Given the description of an element on the screen output the (x, y) to click on. 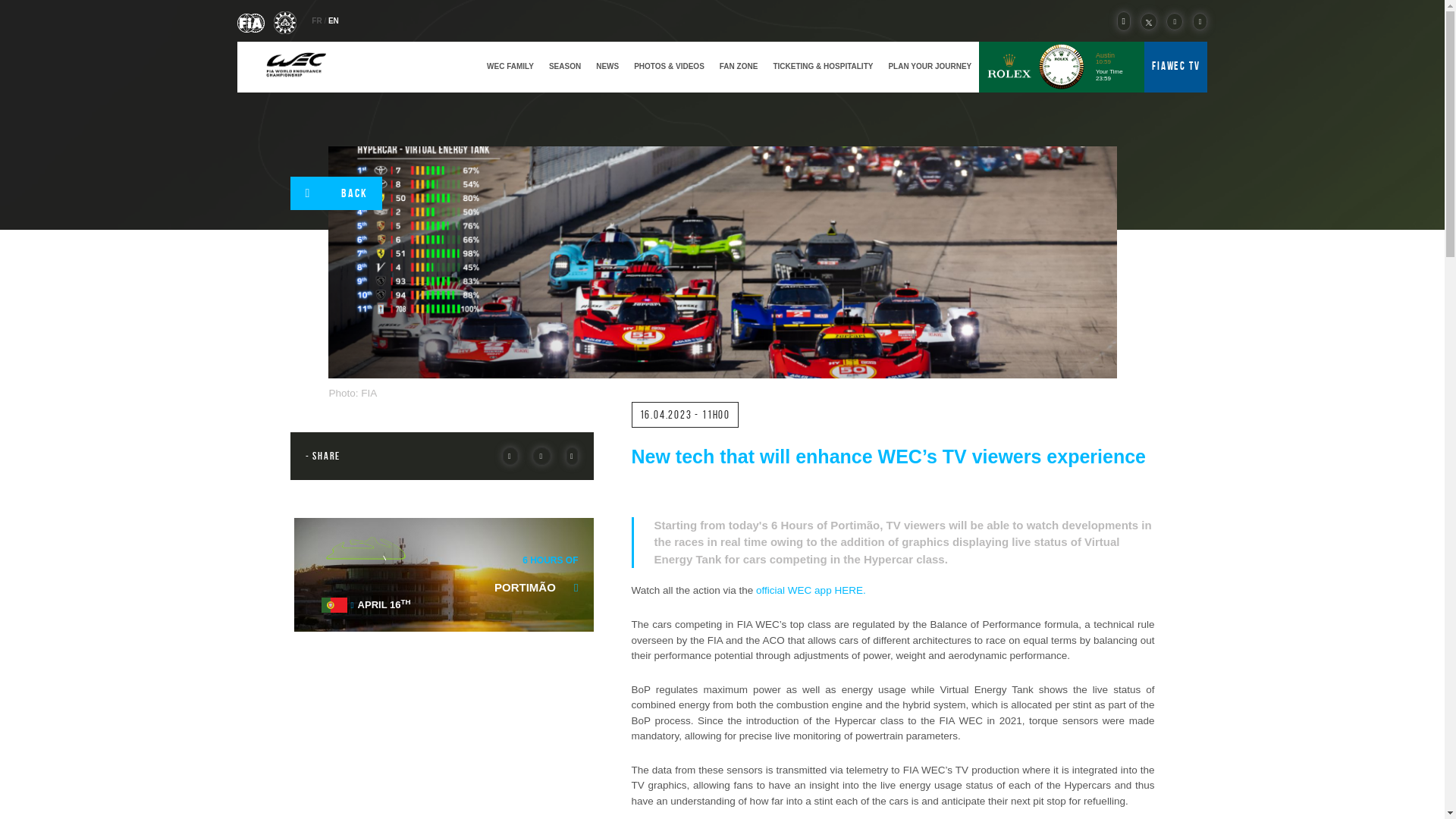
en (334, 20)
Fiawec (295, 66)
wec family (510, 65)
FAN ZONE (738, 65)
ACO (285, 22)
FIA (250, 22)
Follow us on instagram (1196, 21)
Follow us on twitter (1145, 21)
FIAWEC TV (1175, 65)
Season (564, 65)
PLAN YOUR JOURNEY (929, 65)
FR (317, 20)
SEASON (564, 65)
Follow us on facebook (1171, 21)
Follow us on Spotify (1120, 21)
